Given the description of an element on the screen output the (x, y) to click on. 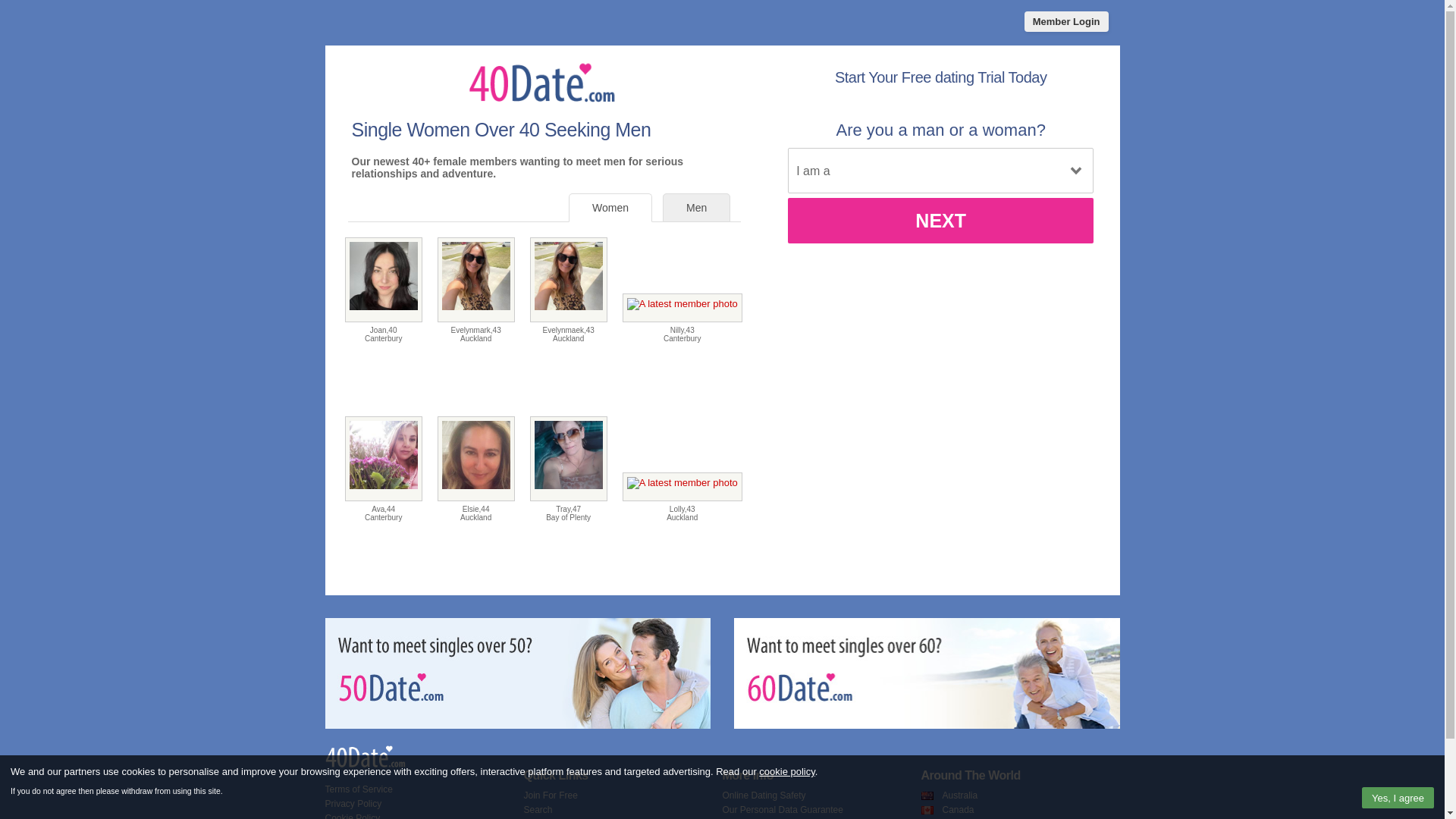
Member Login Element type: text (1066, 21)
Tray, 47 from Hairini, Bay of Plenty Element type: hover (568, 458)
Lolly, 43 from Auckland, Auckland Element type: hover (682, 486)
Privacy Policy Element type: text (352, 803)
Ava, 44 from Christchurch, Canterbury Element type: hover (383, 458)
Terms of Service Element type: text (358, 789)
Our Personal Data Guarantee Element type: text (781, 809)
Join For Free Element type: text (550, 795)
Canada Element type: text (957, 809)
cookie policy Element type: text (786, 771)
Online Dating Safety Element type: text (763, 795)
Evelynmaek, 43 from Auckland, Auckland Element type: hover (568, 279)
Search Element type: text (537, 809)
Women Element type: text (610, 207)
Yes, I agree Element type: text (1397, 797)
Joan, 40 from Hei Hei, Canterbury Element type: hover (383, 279)
Evelynmark, 43 from Auckland, Auckland Element type: hover (475, 279)
NEXT Element type: text (940, 220)
Australia Element type: text (959, 795)
Nilly, 43 from Hei Hei, Canterbury Element type: hover (682, 307)
Men Element type: text (696, 207)
Elsie, 44 from Auckland, Auckland Element type: hover (475, 458)
